Given the description of an element on the screen output the (x, y) to click on. 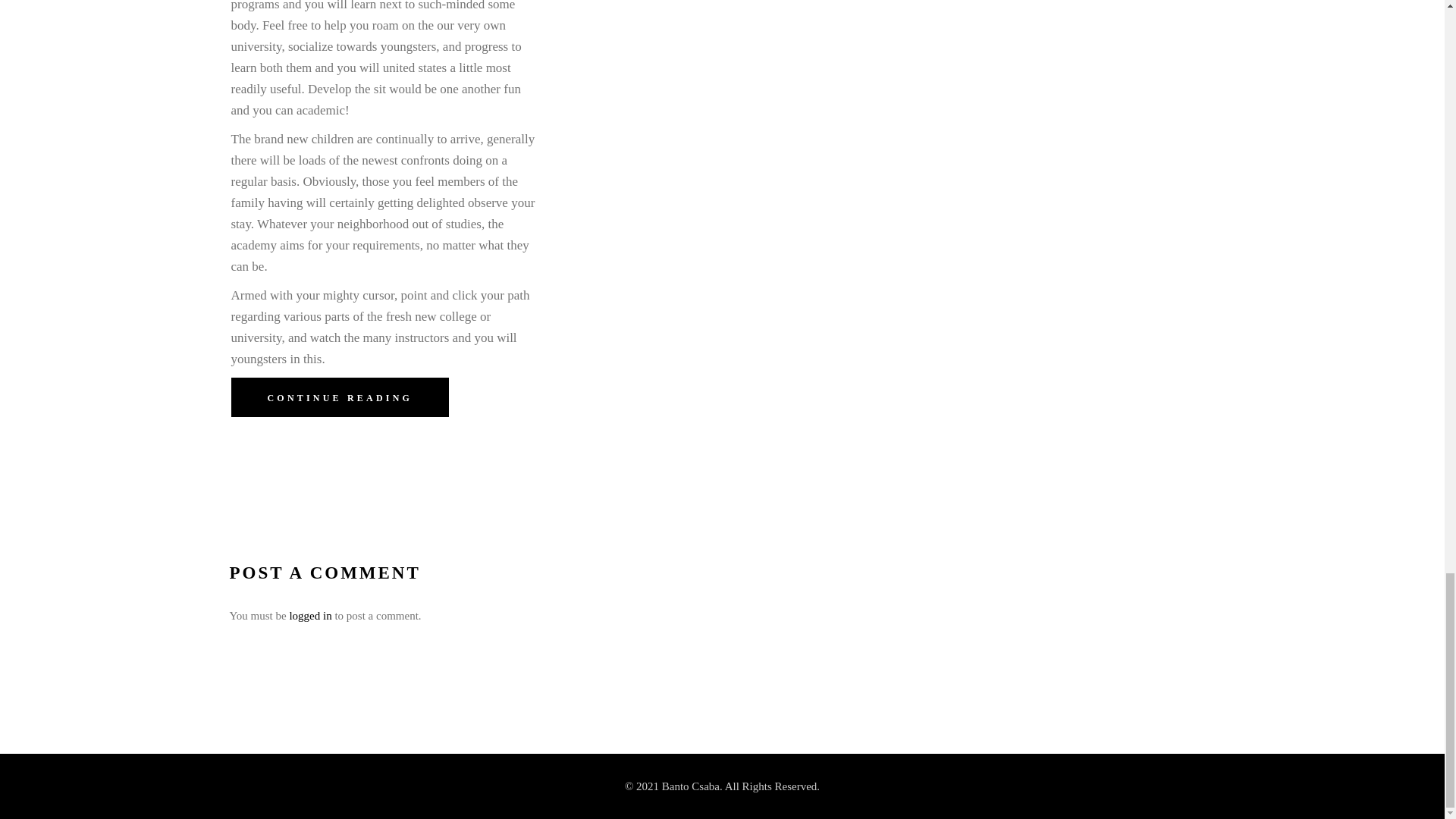
logged in (309, 615)
CONTINUE READING (339, 396)
